Given the description of an element on the screen output the (x, y) to click on. 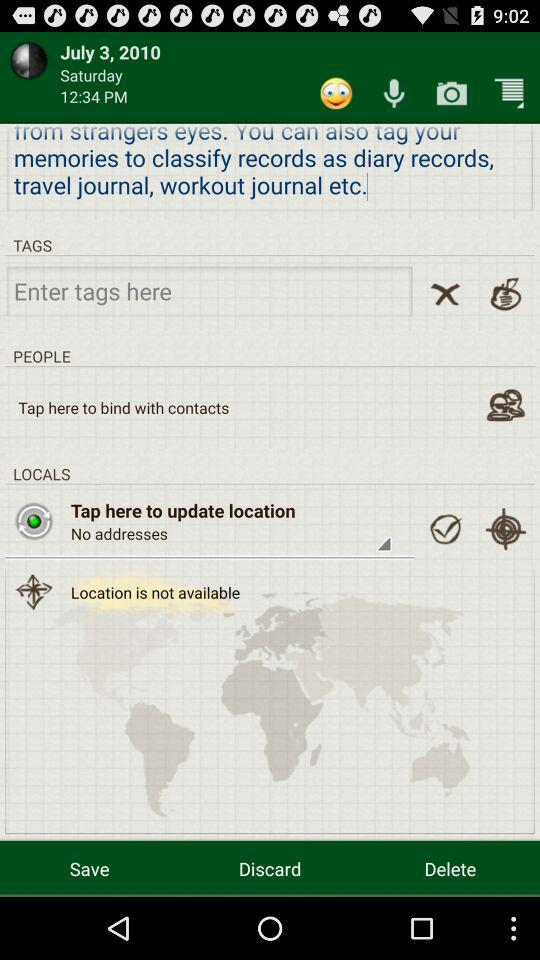
tag contacts (505, 404)
